Given the description of an element on the screen output the (x, y) to click on. 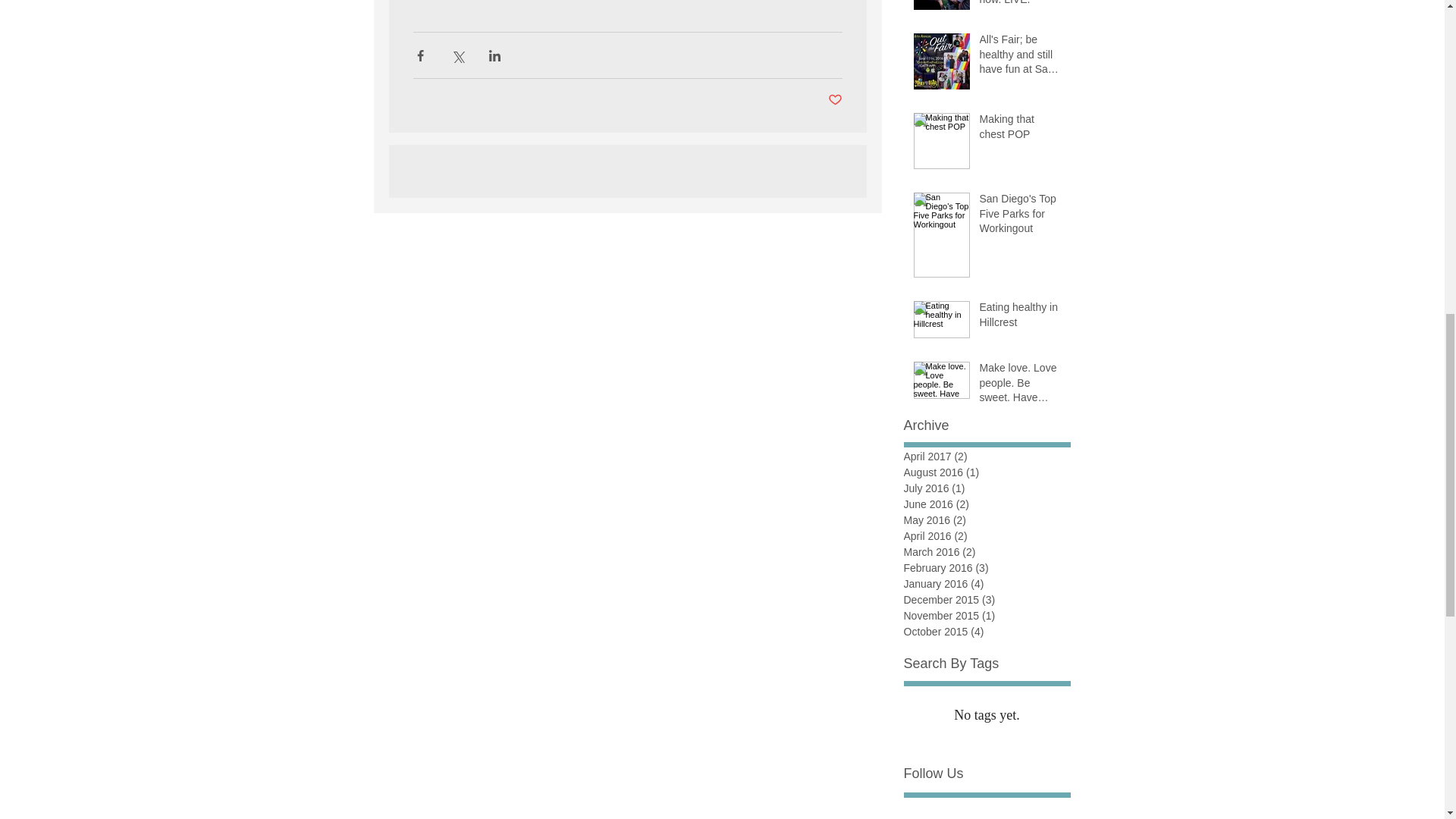
San Diego's Top Five Parks for Workingout (1020, 216)
Post not marked as liked (835, 100)
Life is happening now. LIVE. (1020, 6)
Eating healthy in Hillcrest (1020, 317)
Make love. Love people. Be sweet. Have corn dogs. (1020, 386)
Making that chest POP (1020, 130)
